Given the description of an element on the screen output the (x, y) to click on. 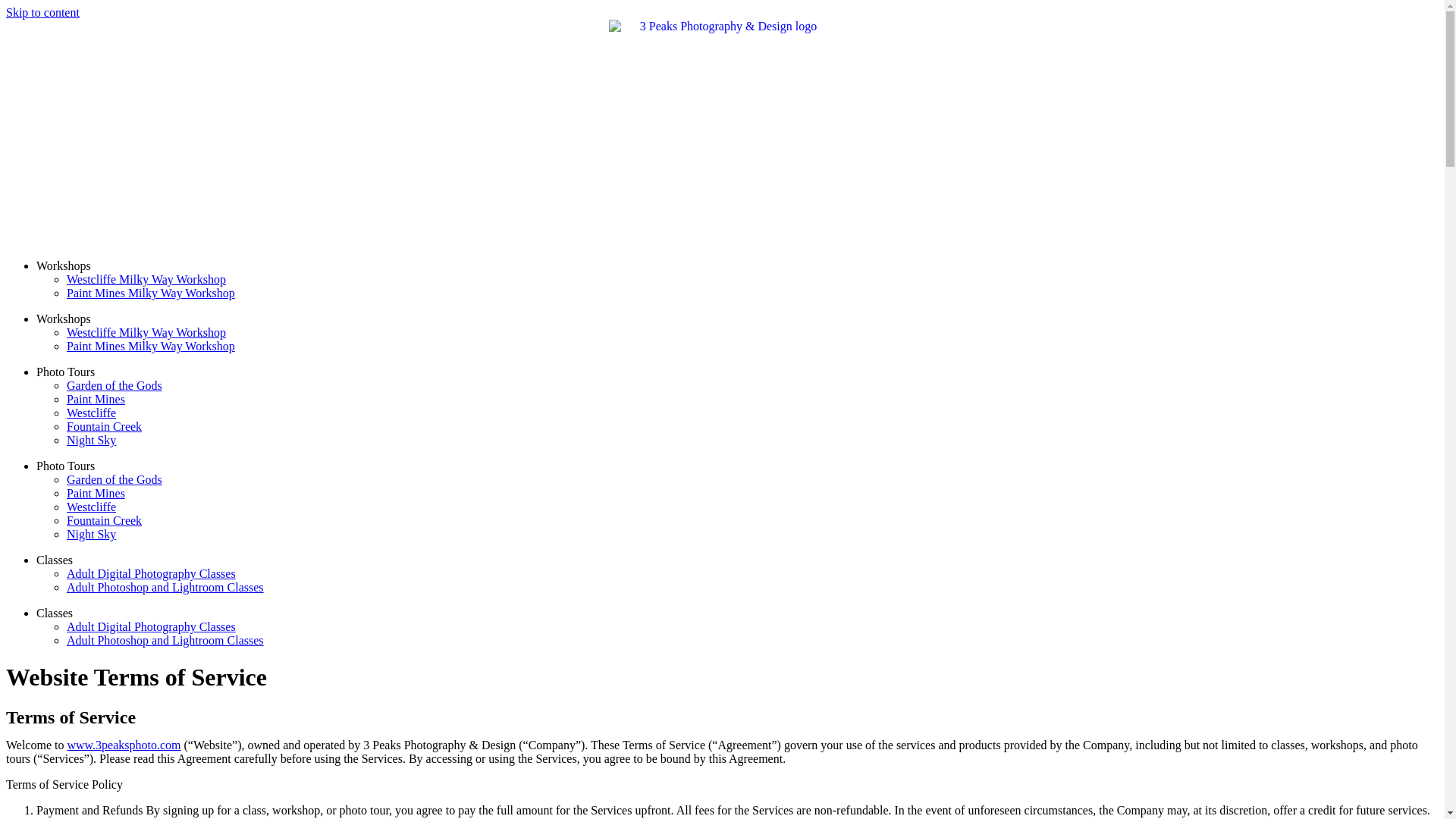
Fountain Creek Element type: text (103, 426)
Westcliffe Element type: text (91, 412)
Westcliffe Milky Way Workshop Element type: text (145, 279)
Classes Element type: text (54, 559)
Paint Mines Milky Way Workshop Element type: text (150, 292)
Workshops Element type: text (63, 318)
Paint Mines Element type: text (95, 398)
Workshops Element type: text (63, 265)
Classes Element type: text (54, 612)
Paint Mines Milky Way Workshop Element type: text (150, 345)
Photo Tours Element type: text (65, 465)
Night Sky Element type: text (91, 533)
Adult Photoshop and Lightroom Classes Element type: text (164, 586)
Fountain Creek Element type: text (103, 520)
Adult Digital Photography Classes Element type: text (150, 626)
www.3peaksphoto.com Element type: text (123, 744)
Night Sky Element type: text (91, 439)
Garden of the Gods Element type: text (114, 385)
Skip to content Element type: text (42, 12)
Photo Tours Element type: text (65, 371)
Westcliffe Element type: text (91, 506)
Garden of the Gods Element type: text (114, 479)
Adult Photoshop and Lightroom Classes Element type: text (164, 639)
Paint Mines Element type: text (95, 492)
Westcliffe Milky Way Workshop Element type: text (145, 332)
Adult Digital Photography Classes Element type: text (150, 573)
